Given the description of an element on the screen output the (x, y) to click on. 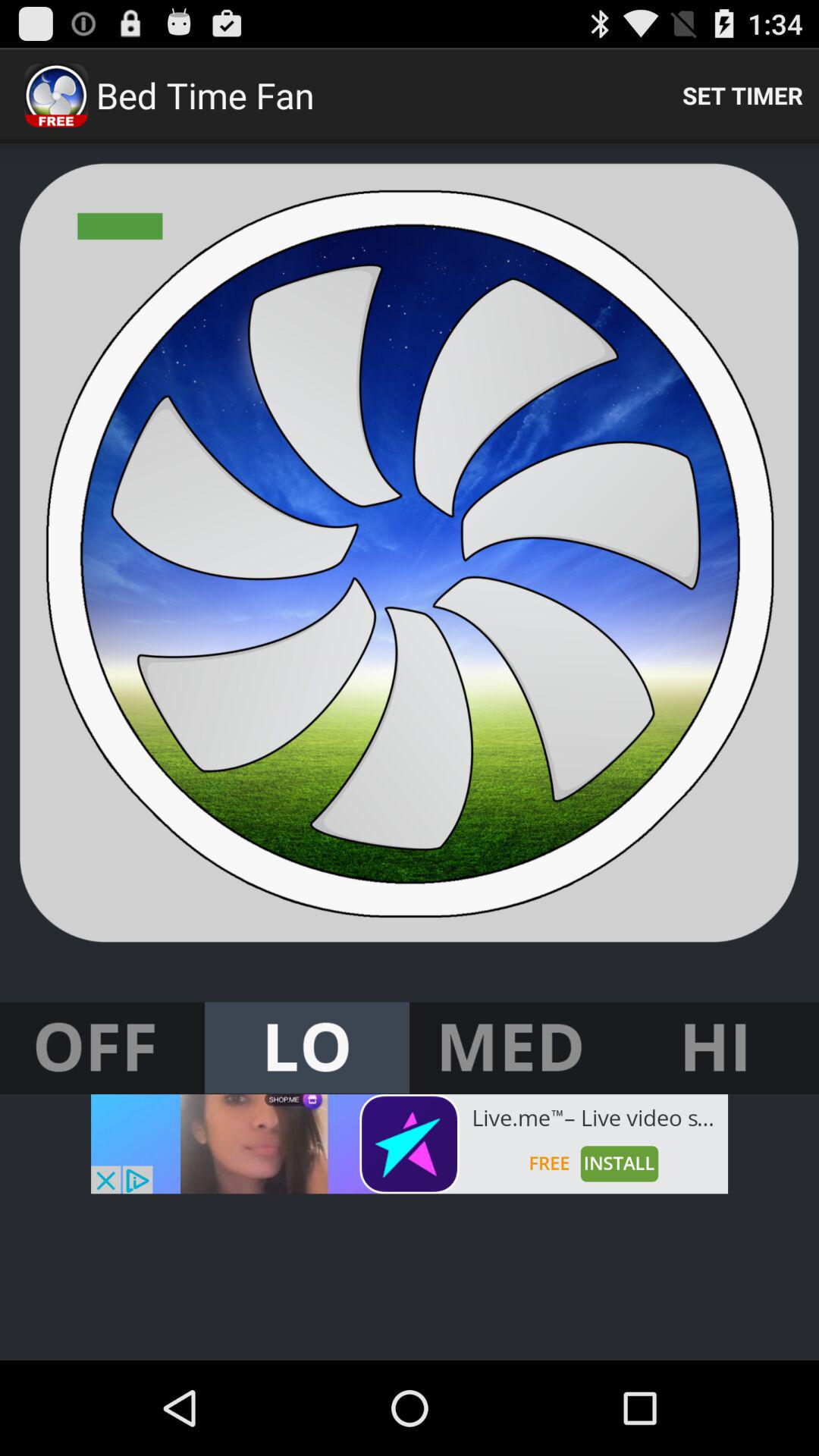
click on advertisement (409, 1143)
